Given the description of an element on the screen output the (x, y) to click on. 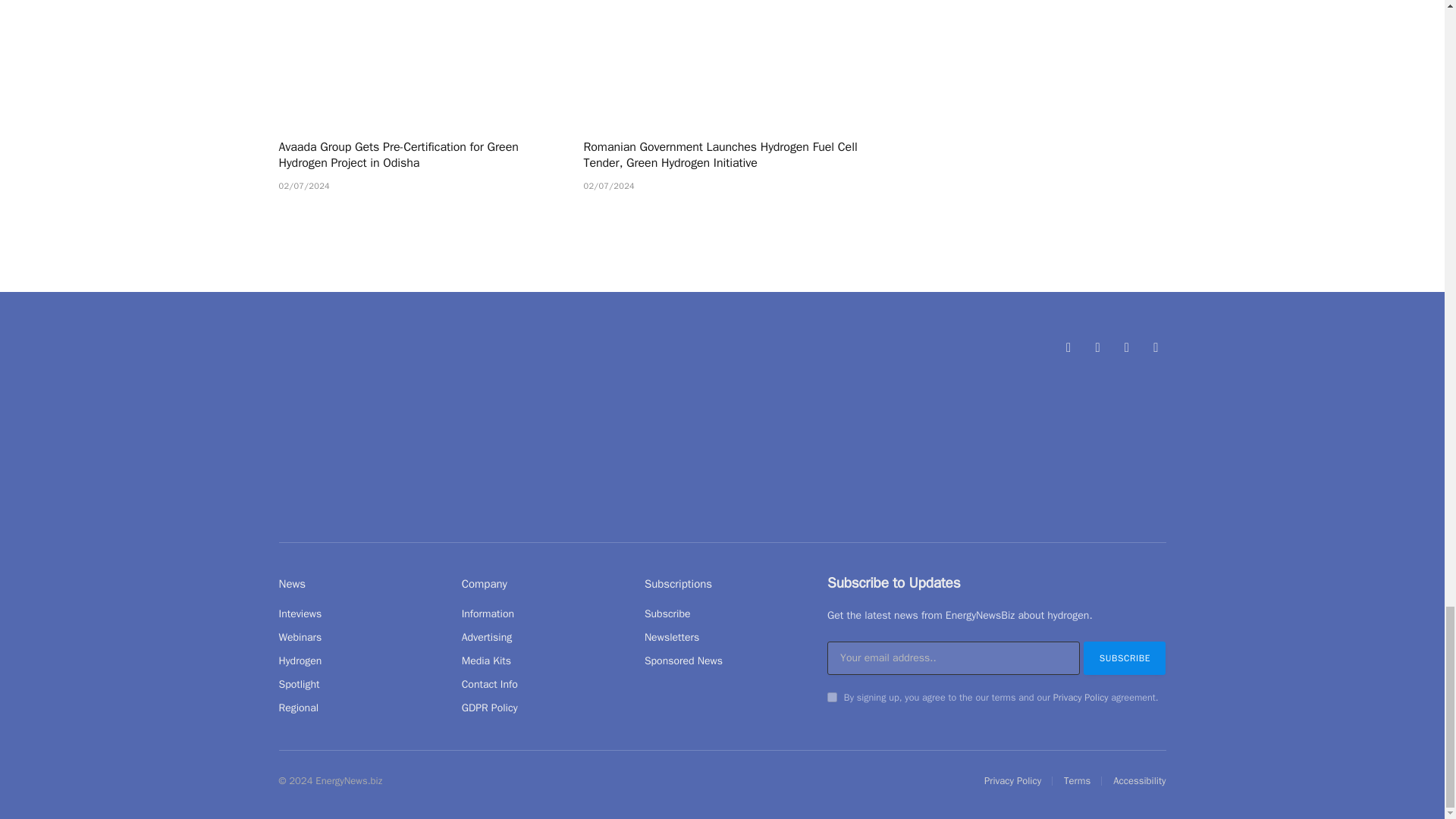
Subscribe (1124, 657)
on (832, 696)
